Given the description of an element on the screen output the (x, y) to click on. 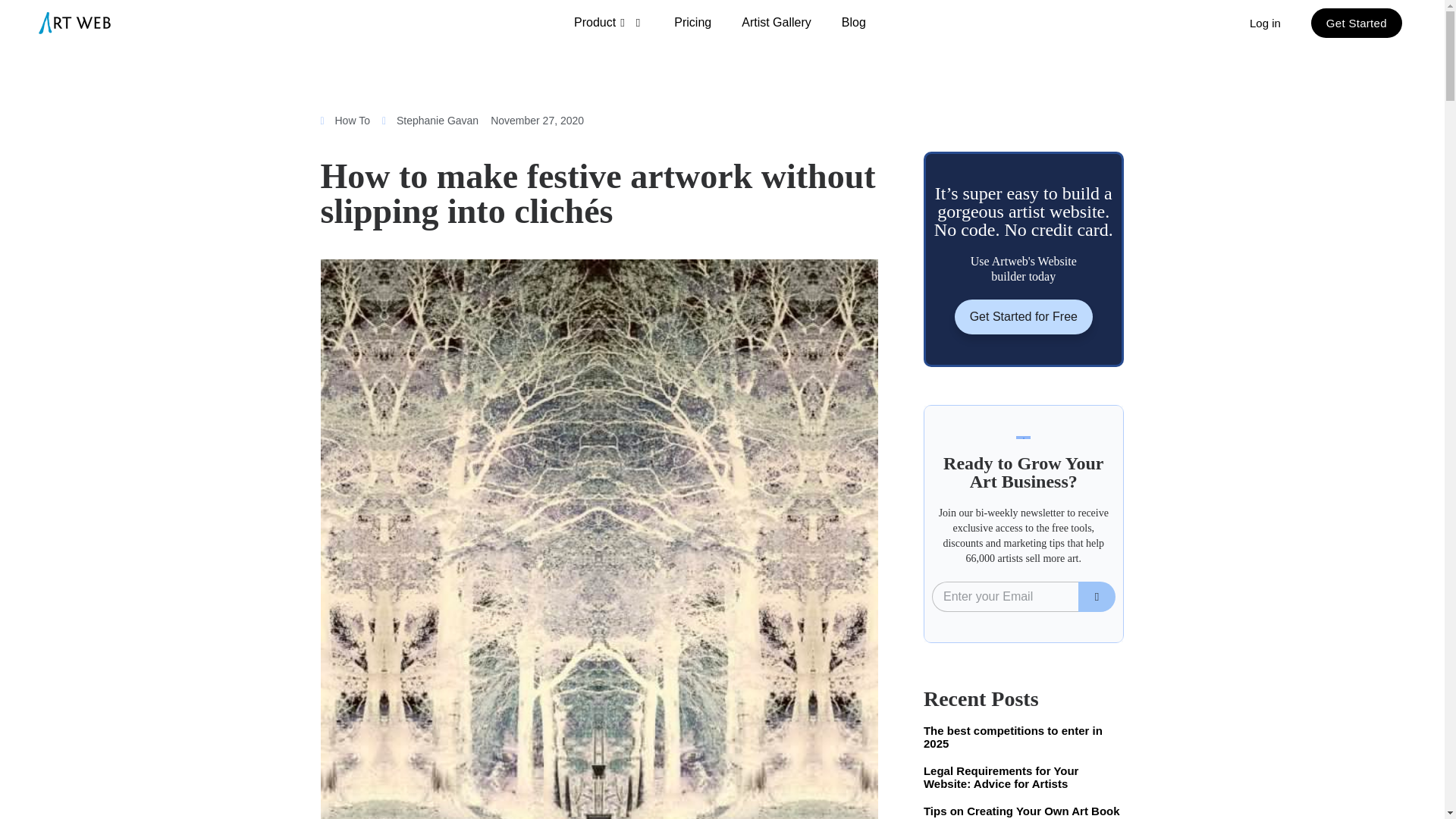
How To (351, 120)
Log in (1264, 21)
Get Started (1356, 21)
Product (609, 22)
Blog (853, 22)
Stephanie Gavan (430, 120)
Pricing (692, 22)
Artist Gallery (776, 22)
